Given the description of an element on the screen output the (x, y) to click on. 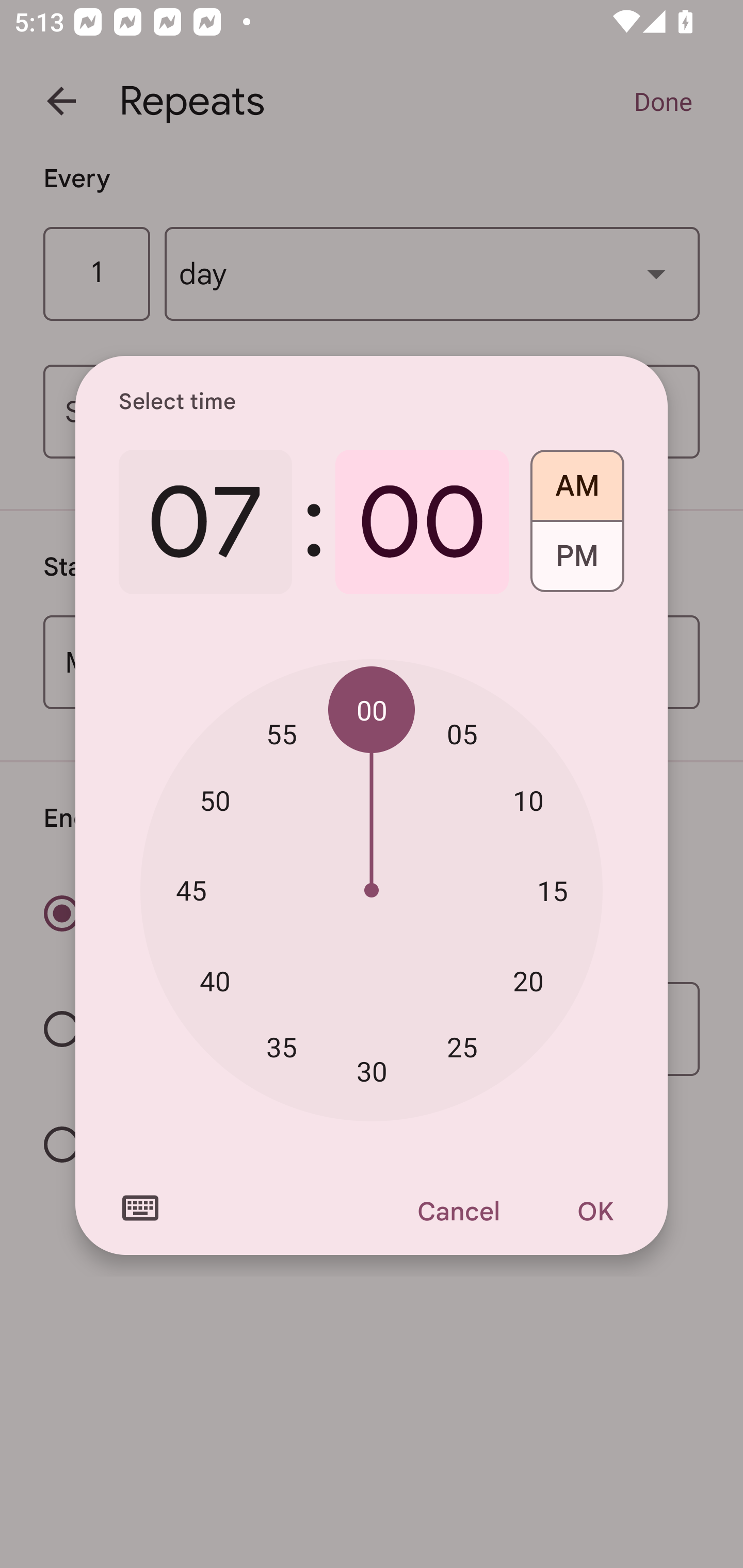
AM (577, 478)
07 7 o'clock (204, 522)
00 0 minutes (421, 522)
PM (577, 563)
00 00 minutes (371, 710)
55 55 minutes (281, 733)
05 05 minutes (462, 733)
50 50 minutes (214, 800)
10 10 minutes (528, 800)
45 45 minutes (190, 889)
15 15 minutes (551, 890)
40 40 minutes (214, 980)
20 20 minutes (528, 980)
35 35 minutes (281, 1046)
25 25 minutes (462, 1046)
30 30 minutes (371, 1071)
Switch to text input mode for the time input. (140, 1208)
Cancel (458, 1211)
OK (595, 1211)
